Given the description of an element on the screen output the (x, y) to click on. 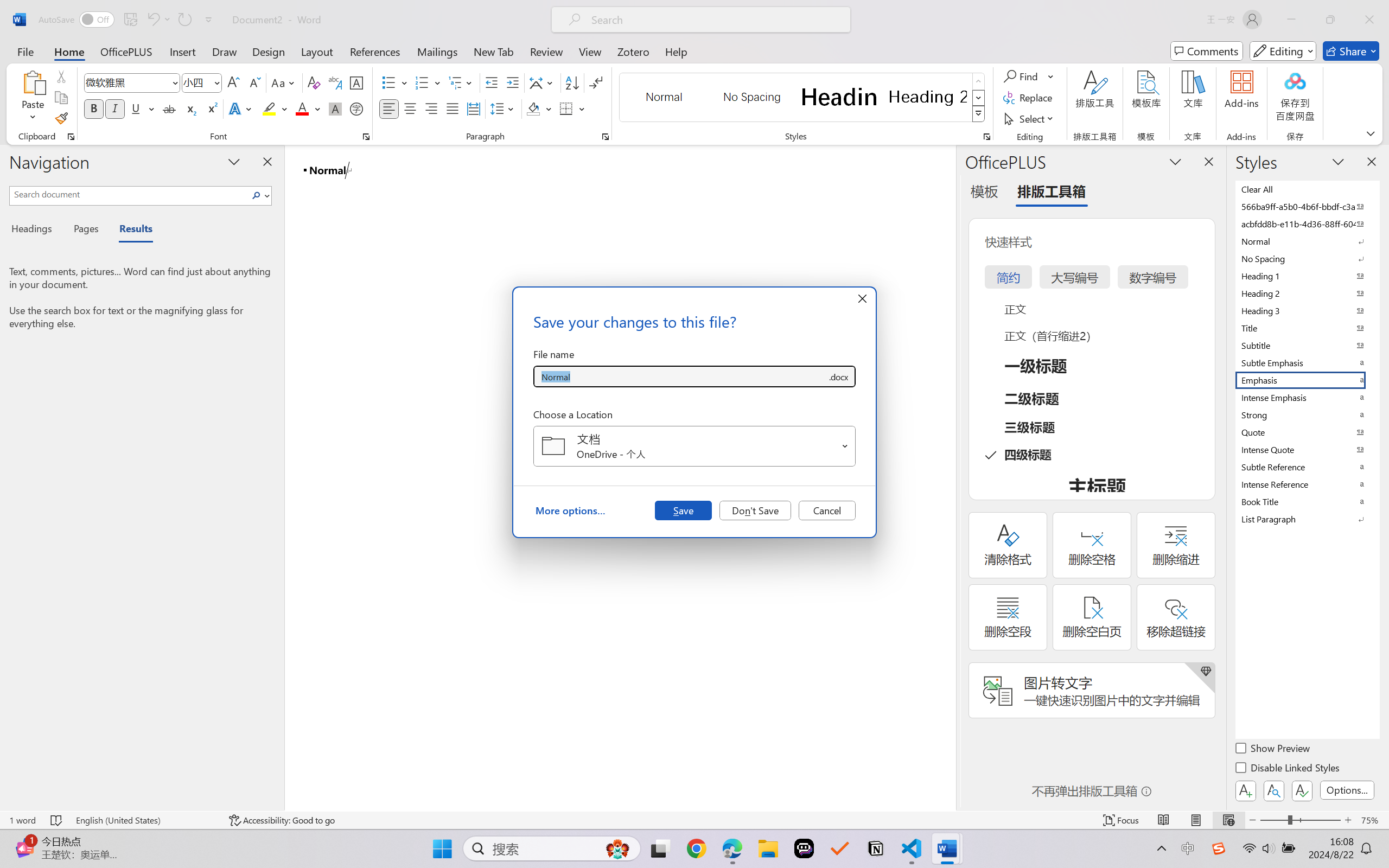
Distributed (473, 108)
Row Down (978, 97)
Comments (1206, 50)
Numbering (428, 82)
Intense Quote (1306, 449)
Share (1350, 51)
Don't Save (755, 509)
New Tab (493, 51)
566ba9ff-a5b0-4b6f-bbdf-c3ab41993fc2 (1306, 206)
Heading 3 (1306, 310)
Bullets (395, 82)
